Given the description of an element on the screen output the (x, y) to click on. 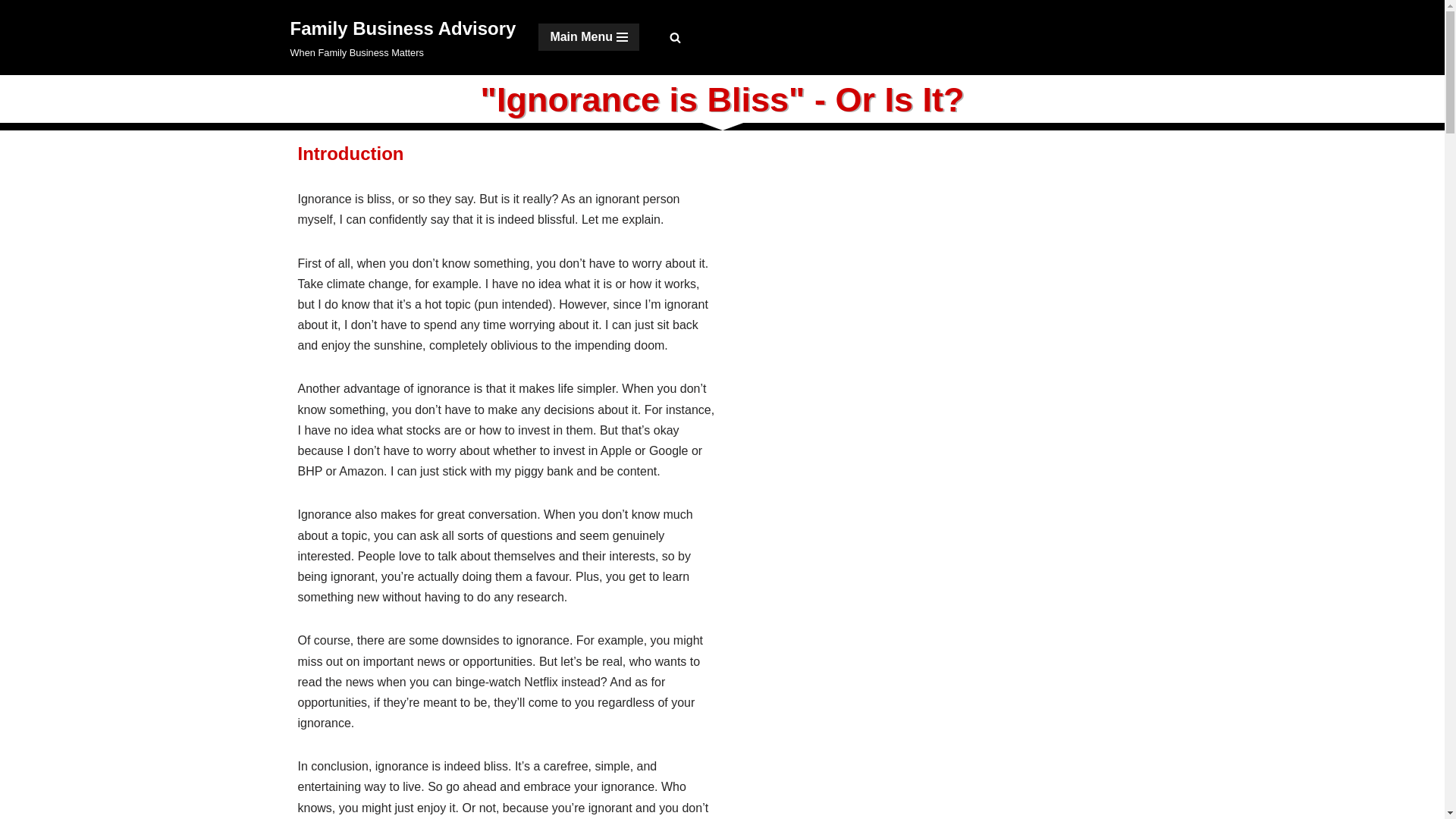
Skip to content (402, 37)
Main Menu (11, 31)
